Given the description of an element on the screen output the (x, y) to click on. 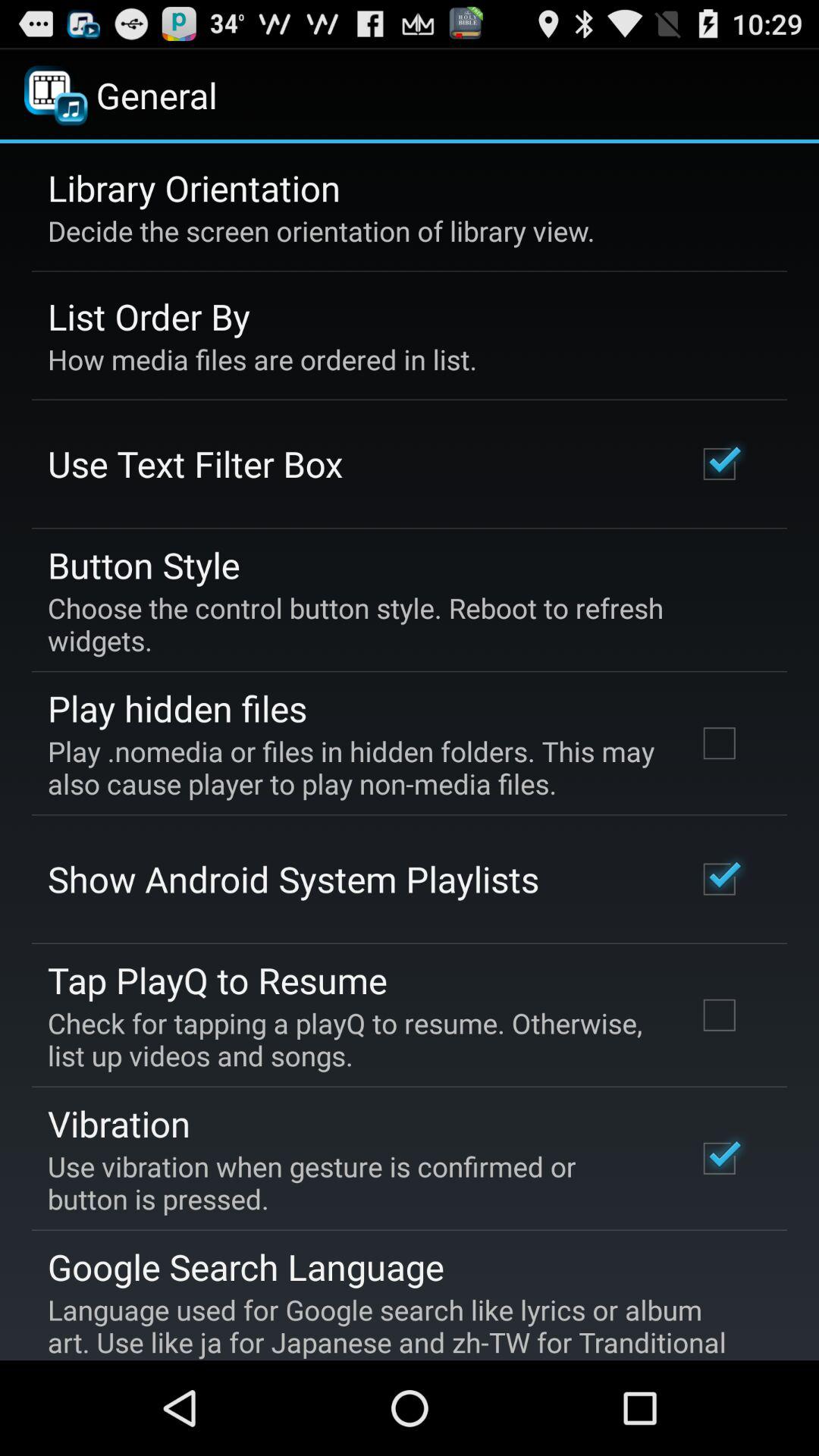
scroll to language used for icon (399, 1325)
